Given the description of an element on the screen output the (x, y) to click on. 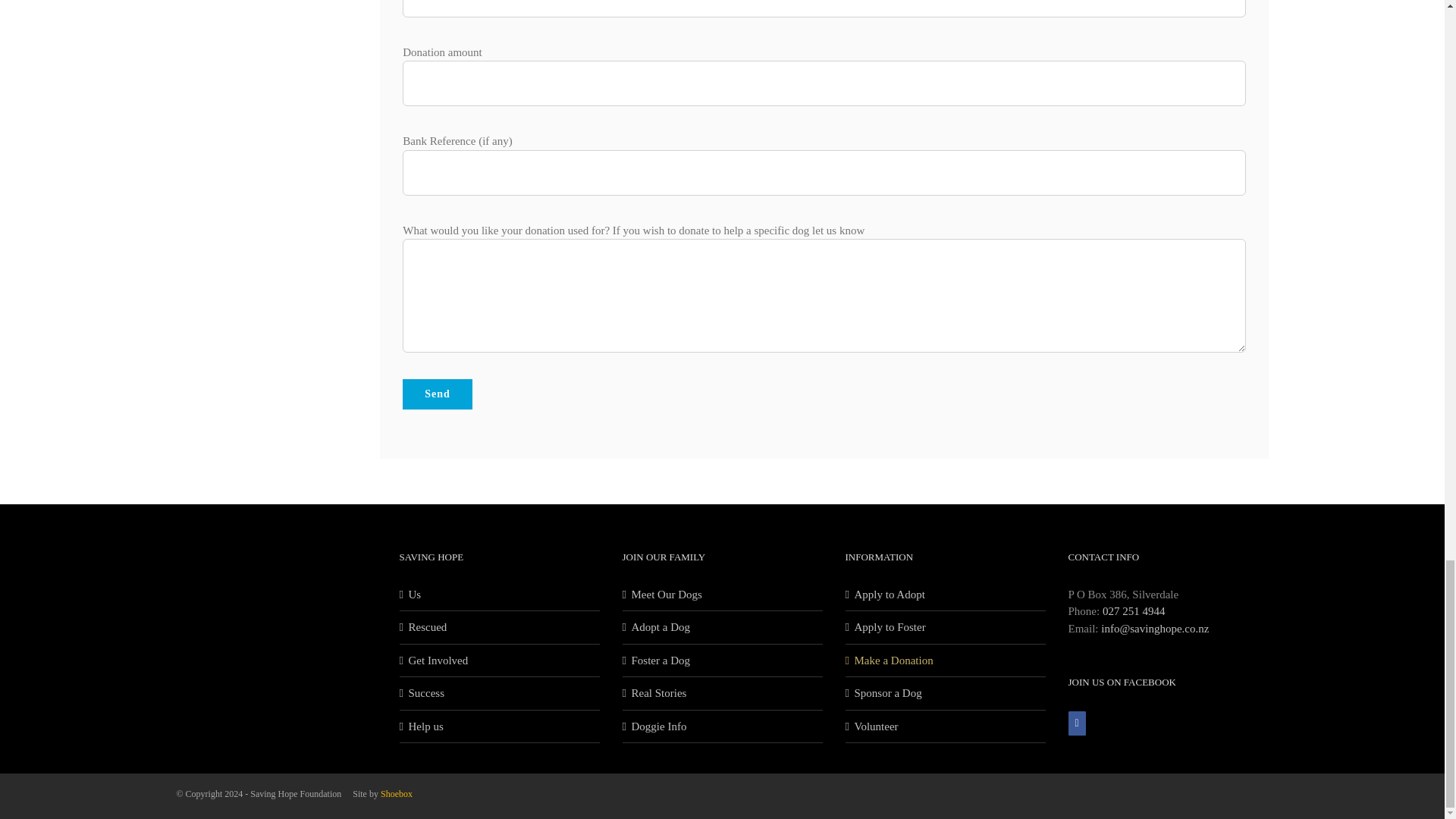
Send (437, 394)
